Given the description of an element on the screen output the (x, y) to click on. 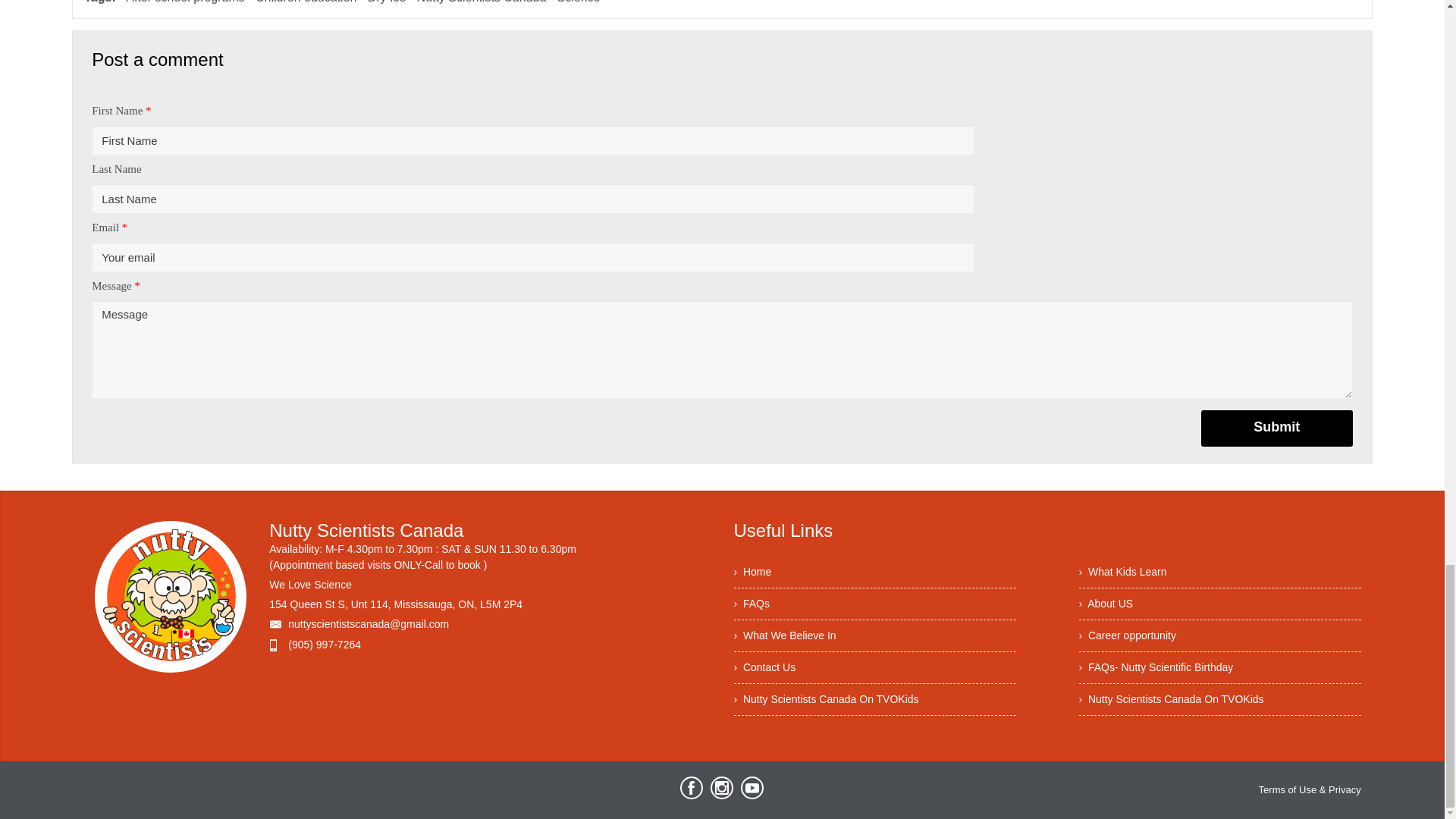
Science (578, 2)
Children education (306, 2)
Nutty Scientists Canada (481, 2)
After school programs (184, 2)
Dry Ice (388, 2)
